Given the description of an element on the screen output the (x, y) to click on. 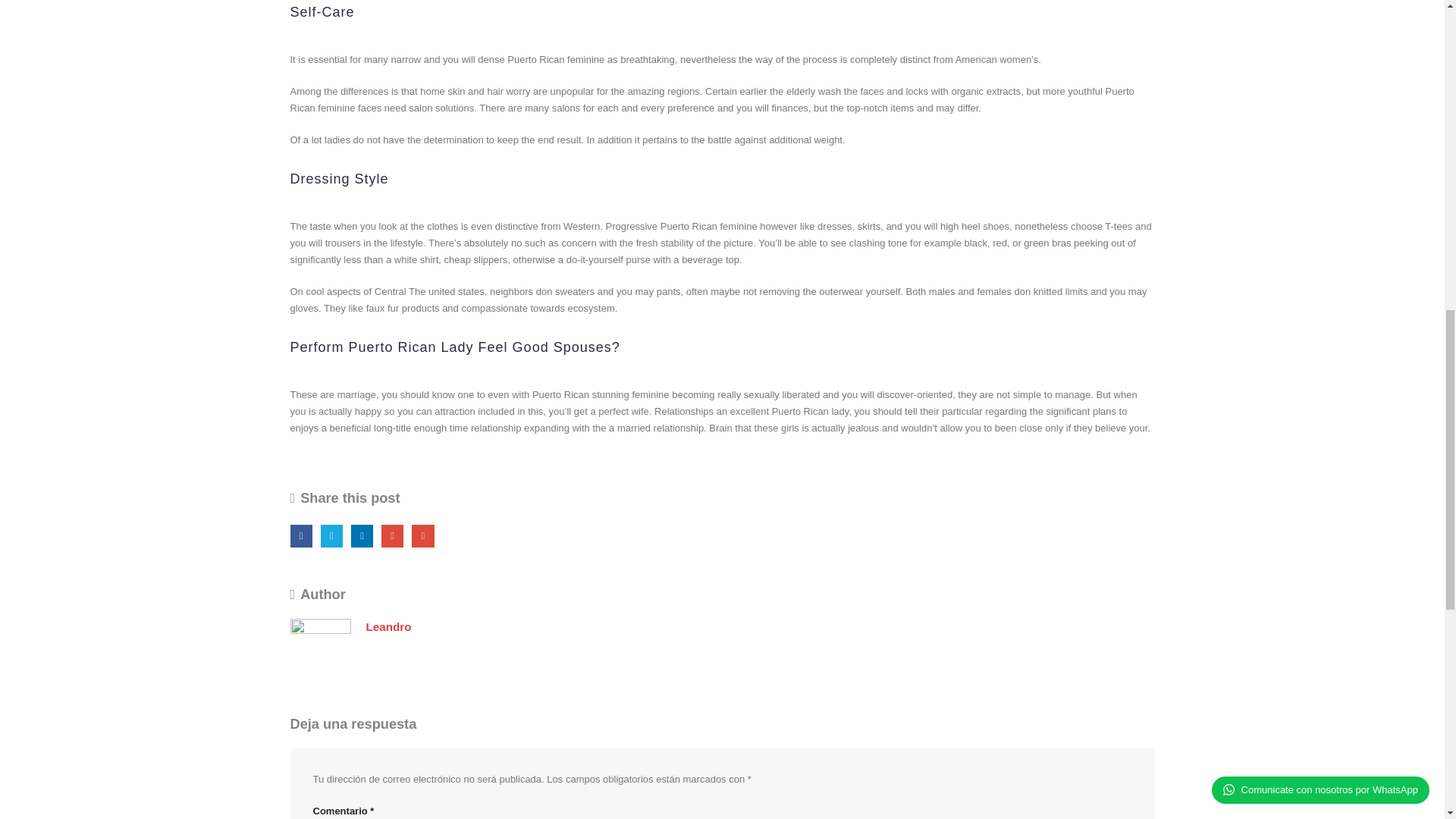
Facebook (300, 535)
Leandro (387, 626)
LinkedIn (361, 535)
Twitter (331, 535)
Email (422, 535)
Entradas de Leandro (387, 626)
